Given the description of an element on the screen output the (x, y) to click on. 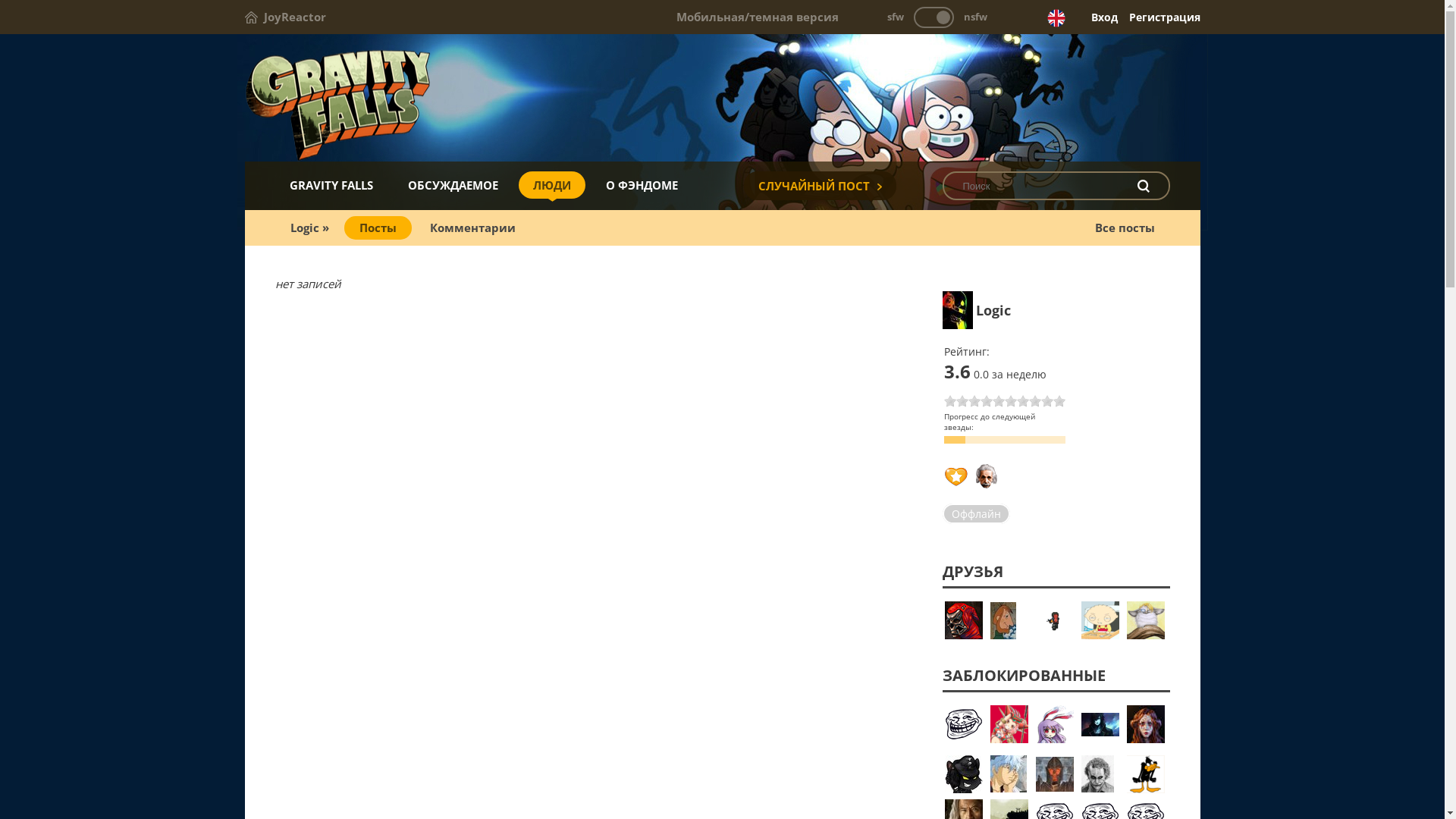
Kackagep Element type: hover (1100, 774)
Ereti40k Element type: hover (963, 774)
NotSleepingWolf Element type: hover (1009, 774)
JoyReactor Element type: text (284, 17)
DuffyTheDuck Element type: hover (1145, 774)
English version Element type: hover (1055, 18)
ponds Element type: hover (963, 724)
Oheekolts Element type: hover (1145, 724)
WestyWilliams Element type: hover (1054, 775)
koka Element type: hover (1145, 620)
<Daniel> Element type: hover (1100, 620)
GRAVITY FALLS Element type: text (330, 184)
Farsight Element type: hover (1054, 621)
Gravity Falls Element type: text (721, 98)
lait27 Element type: hover (1054, 724)
AliaDen Element type: hover (1009, 724)
dimwalker Element type: hover (963, 620)
Nikifor Element type: hover (1009, 621)
Phobos62 Element type: hover (1100, 731)
